Given the description of an element on the screen output the (x, y) to click on. 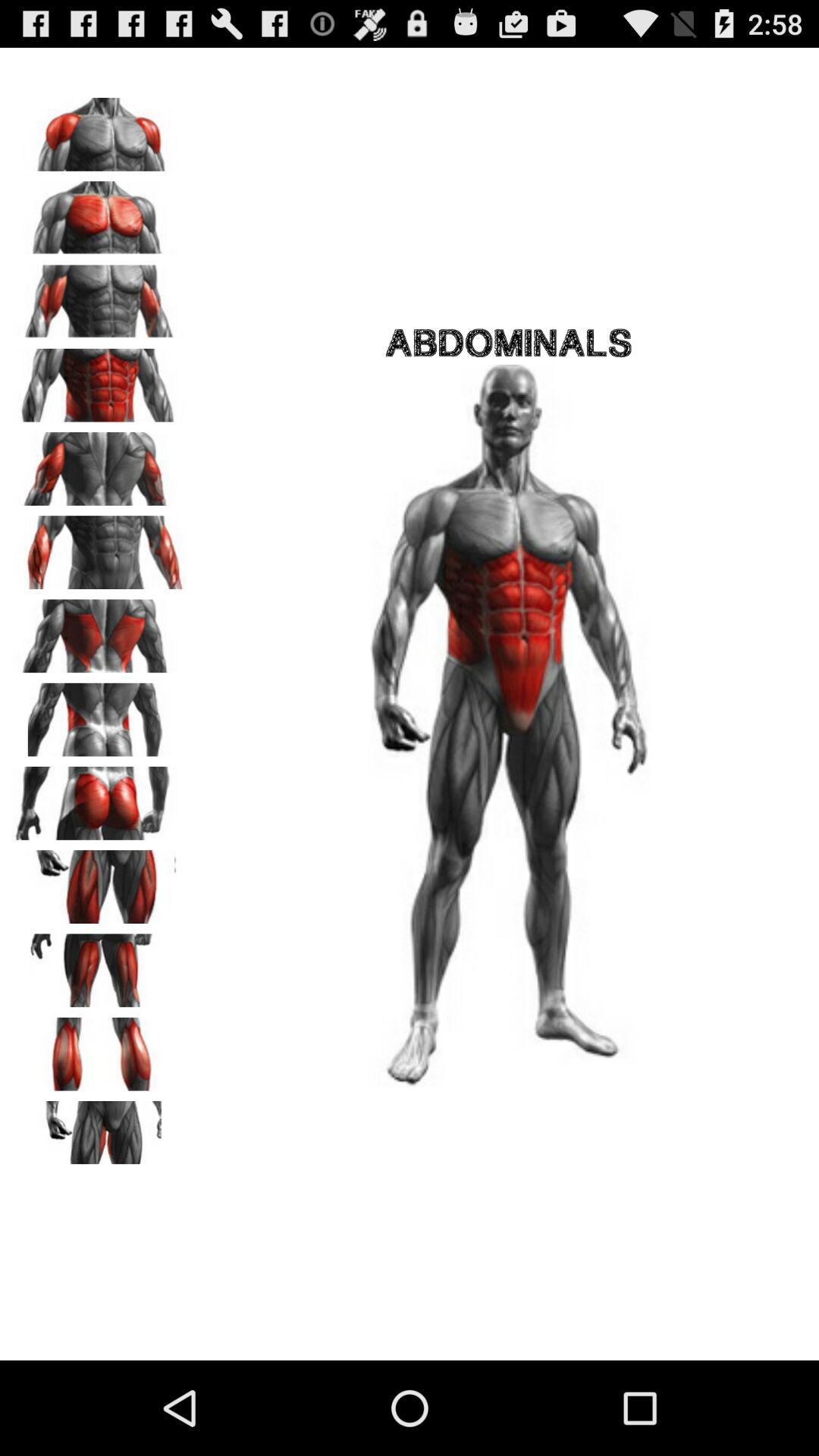
highlight specified muscles (99, 547)
